Given the description of an element on the screen output the (x, y) to click on. 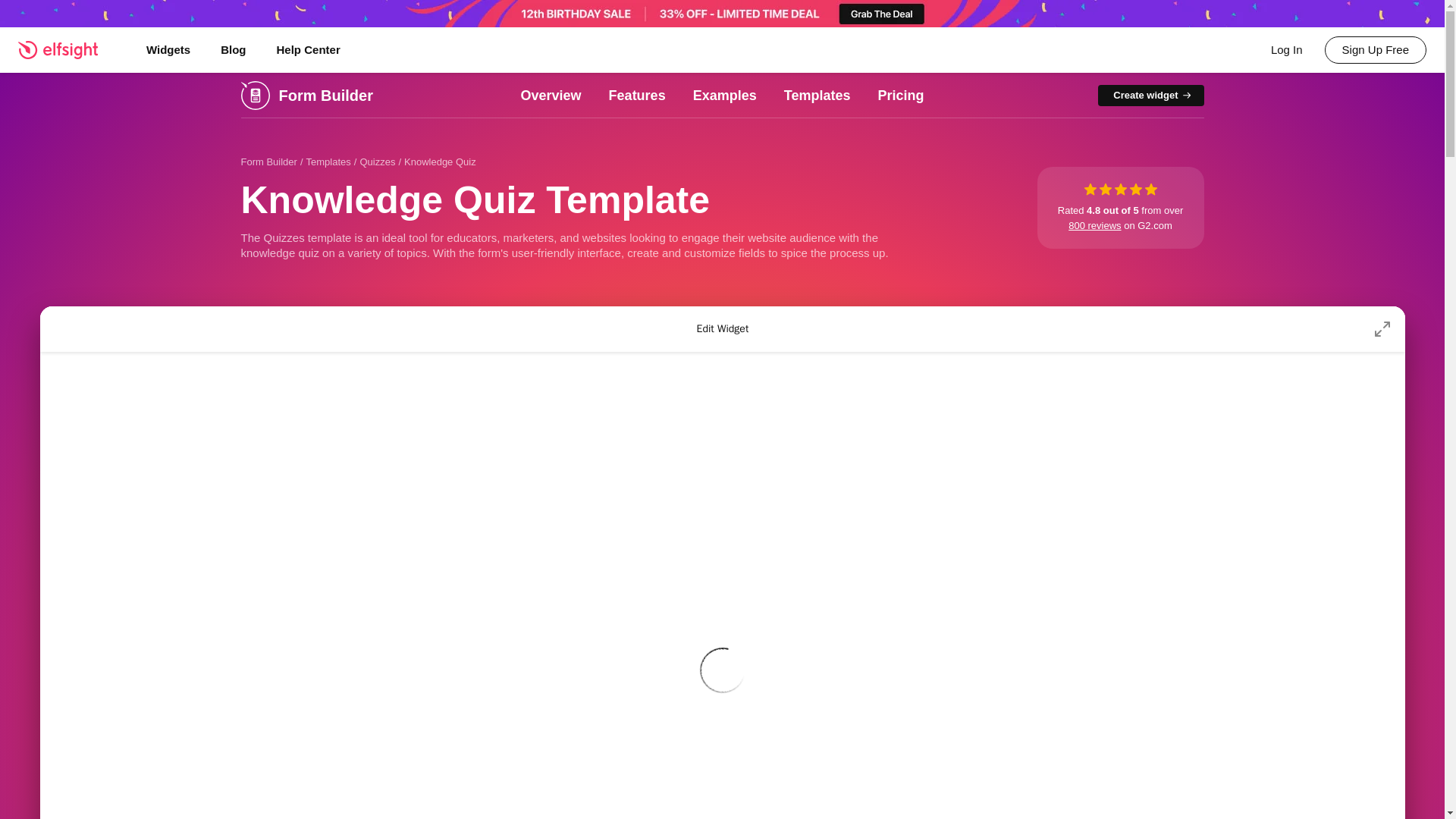
Full Screen (1381, 329)
Elfsight - Premium Plugins For Websites (66, 49)
Widgets (168, 49)
